Given the description of an element on the screen output the (x, y) to click on. 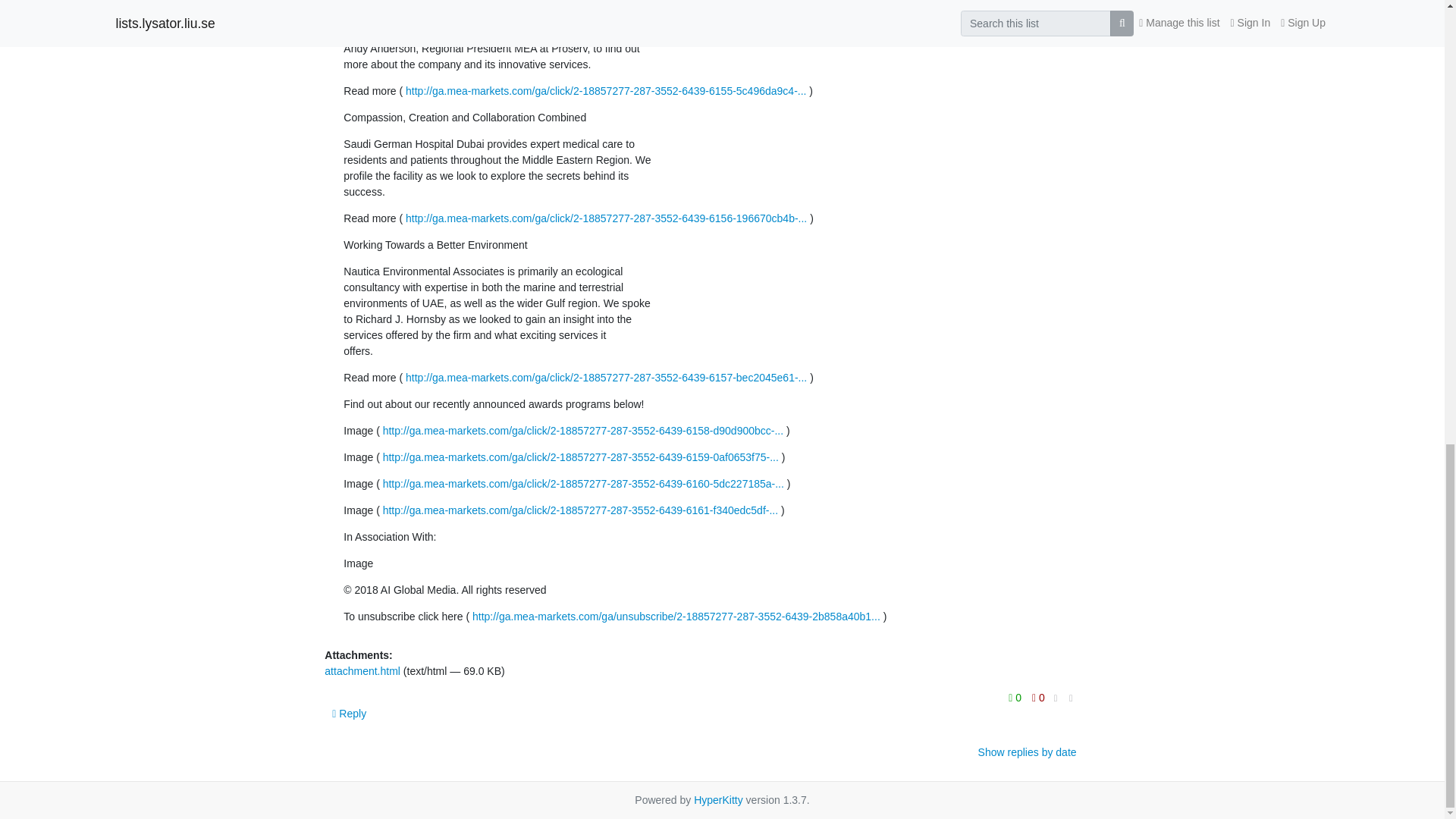
Sign in to reply online (349, 713)
You must be logged-in to vote. (1037, 697)
You must be logged-in to vote. (1015, 697)
